Given the description of an element on the screen output the (x, y) to click on. 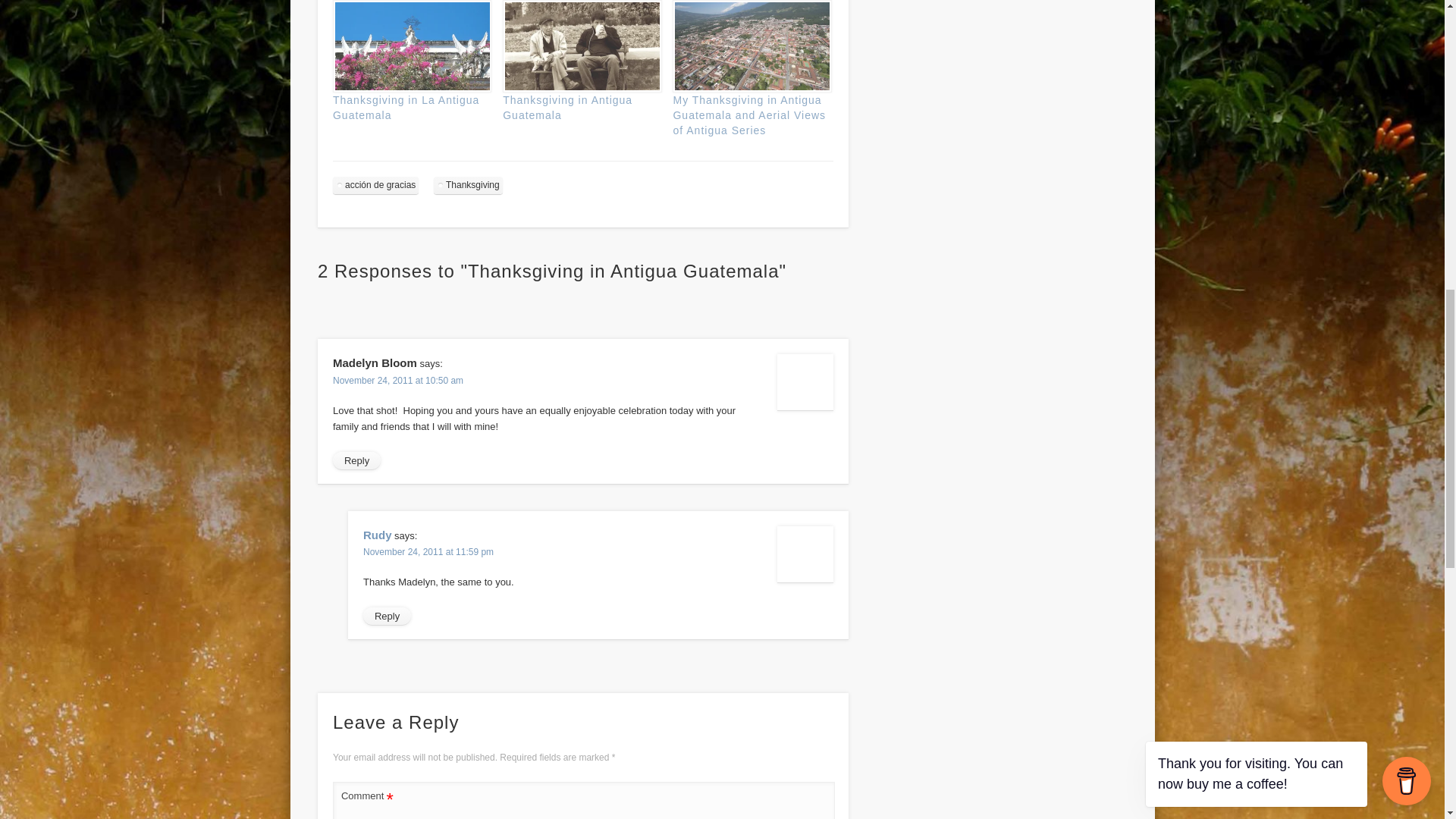
Reply (356, 461)
Reply (386, 616)
Thanksgiving (467, 185)
November 24, 2011 at 11:59 pm (427, 552)
Thanksgiving in La Antigua Guatemala (406, 107)
Thanksgiving in La Antigua Guatemala (410, 46)
November 24, 2011 at 10:50 am (398, 380)
